Given the description of an element on the screen output the (x, y) to click on. 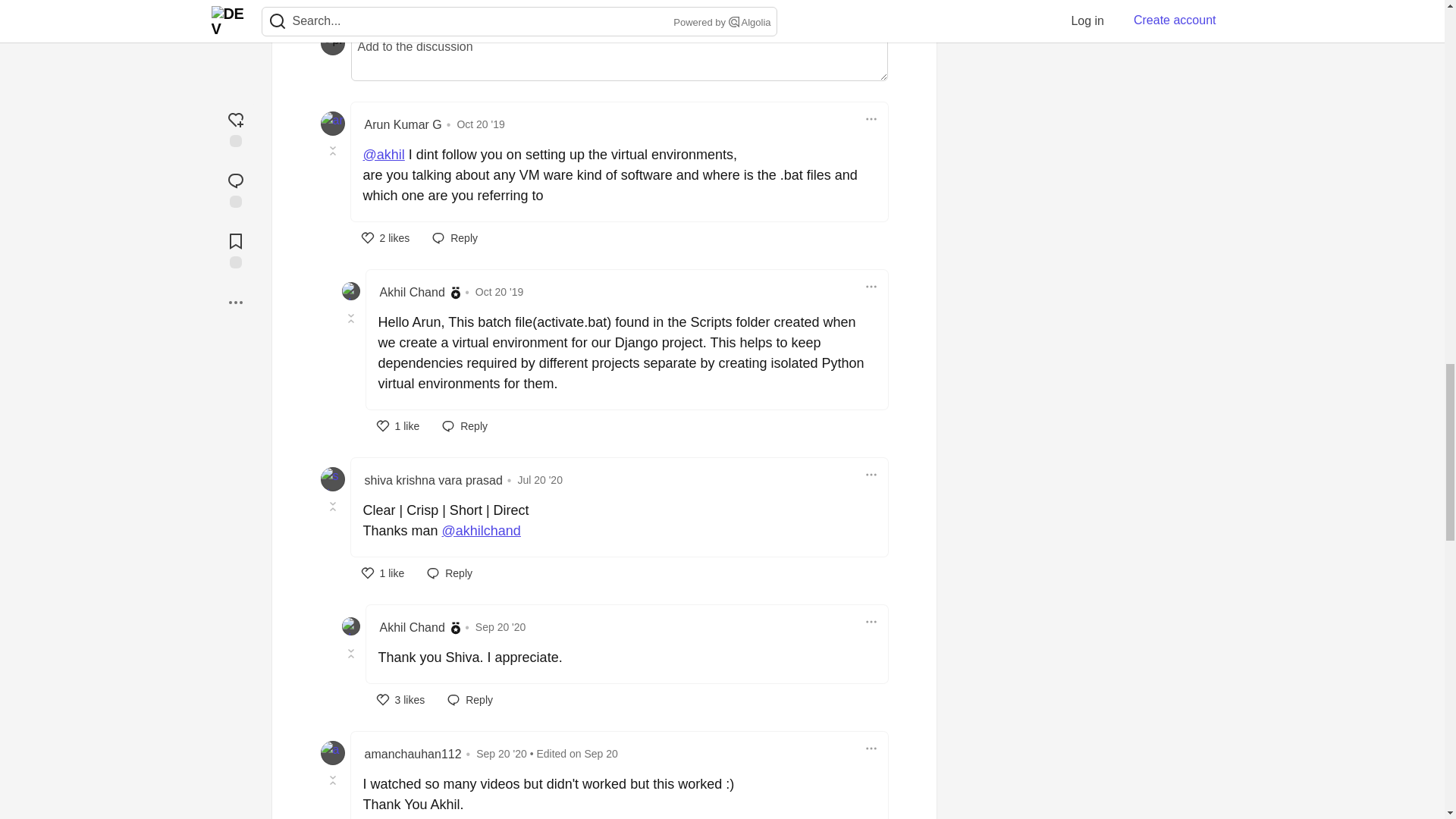
Dropdown menu (870, 286)
Sunday, September 20, 2020 at 10:21:20 PM (600, 753)
Dropdown menu (870, 118)
Sunday, September 20, 2020 at 10:25:55 PM (500, 626)
Sunday, September 20, 2020 at 10:20:59 PM (502, 753)
Dropdown menu (870, 475)
Monday, July 20, 2020 at 3:03:24 PM (539, 480)
Sunday, October 20, 2019 at 10:28:32 AM (480, 123)
Sunday, October 20, 2019 at 11:01:04 AM (499, 291)
